Given the description of an element on the screen output the (x, y) to click on. 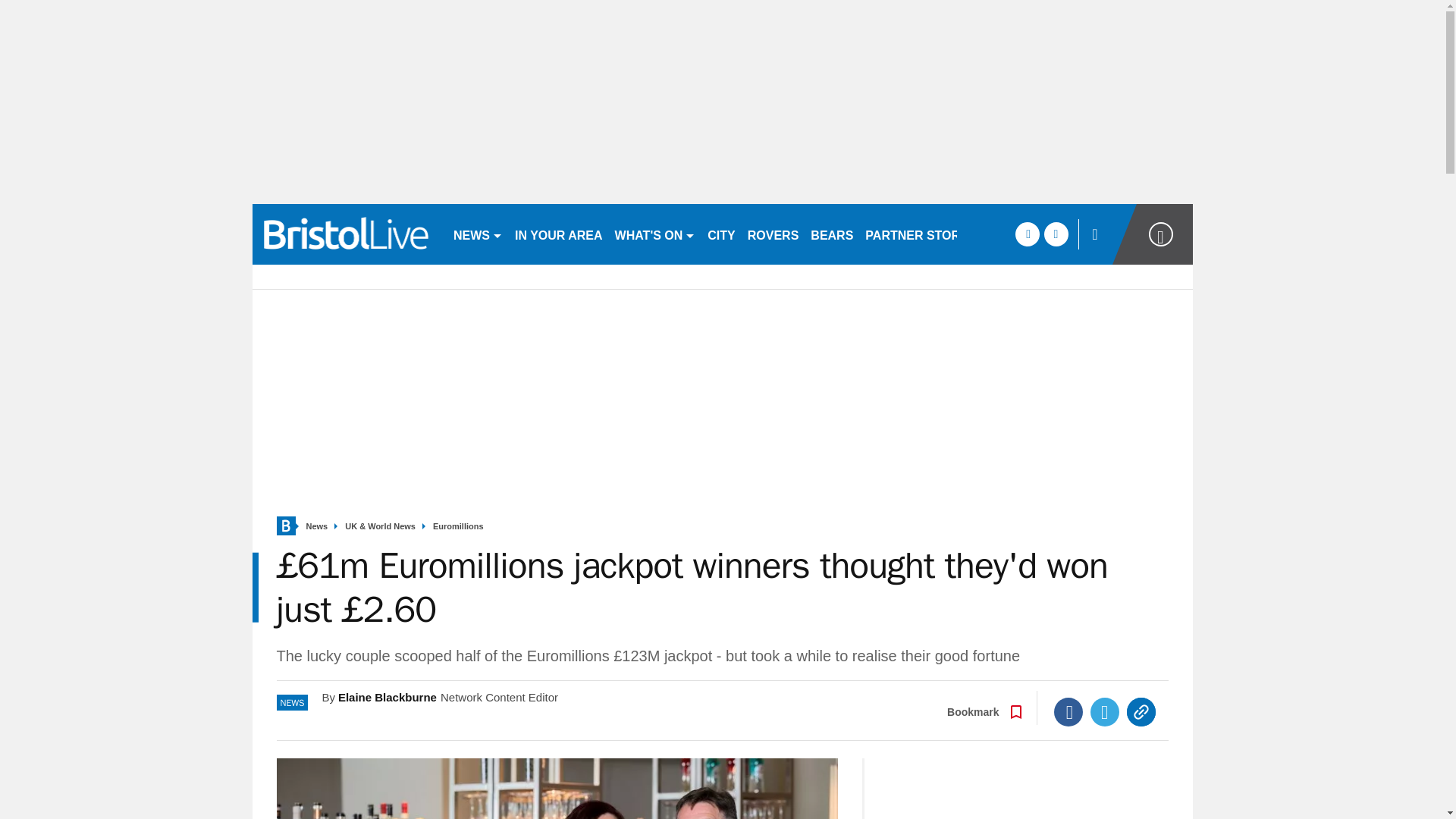
bristolpost (345, 233)
Facebook (1068, 711)
ROVERS (773, 233)
BEARS (832, 233)
PARTNER STORIES (922, 233)
Twitter (1104, 711)
WHAT'S ON (654, 233)
facebook (1026, 233)
twitter (1055, 233)
IN YOUR AREA (558, 233)
